Given the description of an element on the screen output the (x, y) to click on. 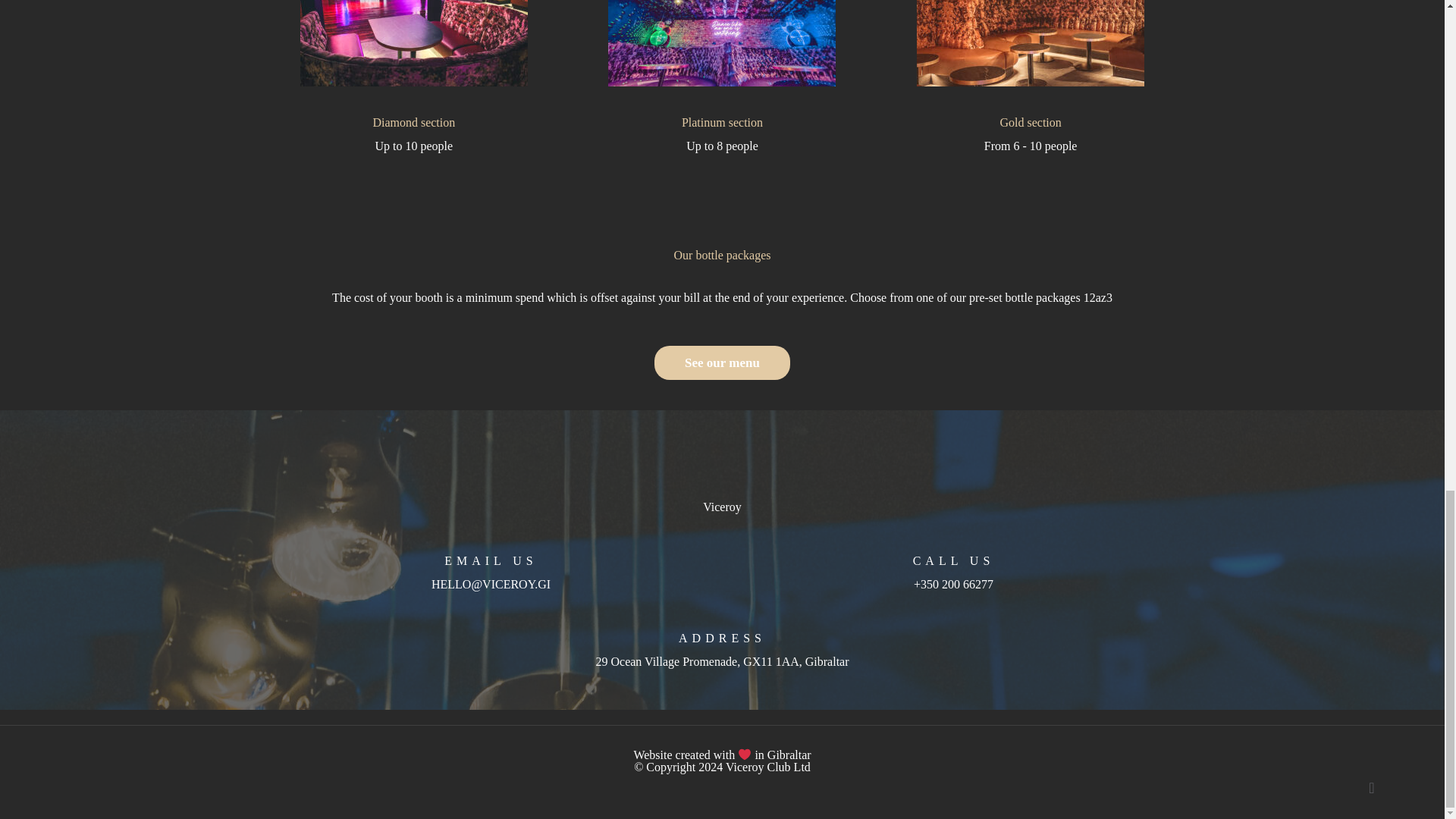
See our menu (721, 362)
